Given the description of an element on the screen output the (x, y) to click on. 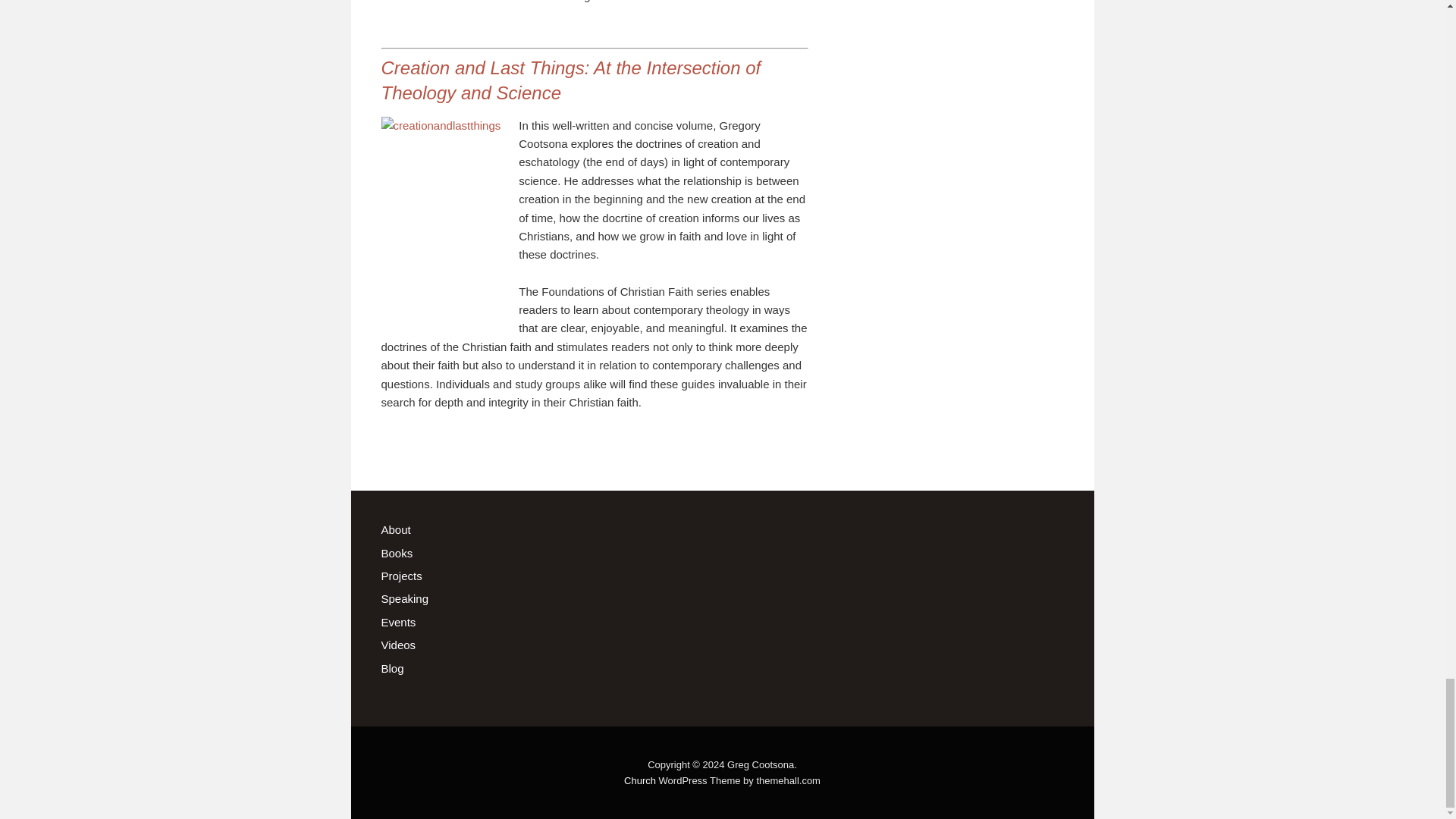
Church WordPress Theme (640, 780)
Videos (397, 644)
Speaking (404, 598)
Church (640, 780)
Events (397, 621)
Projects (401, 575)
Books (396, 553)
Blog (391, 667)
About (395, 529)
